Given the description of an element on the screen output the (x, y) to click on. 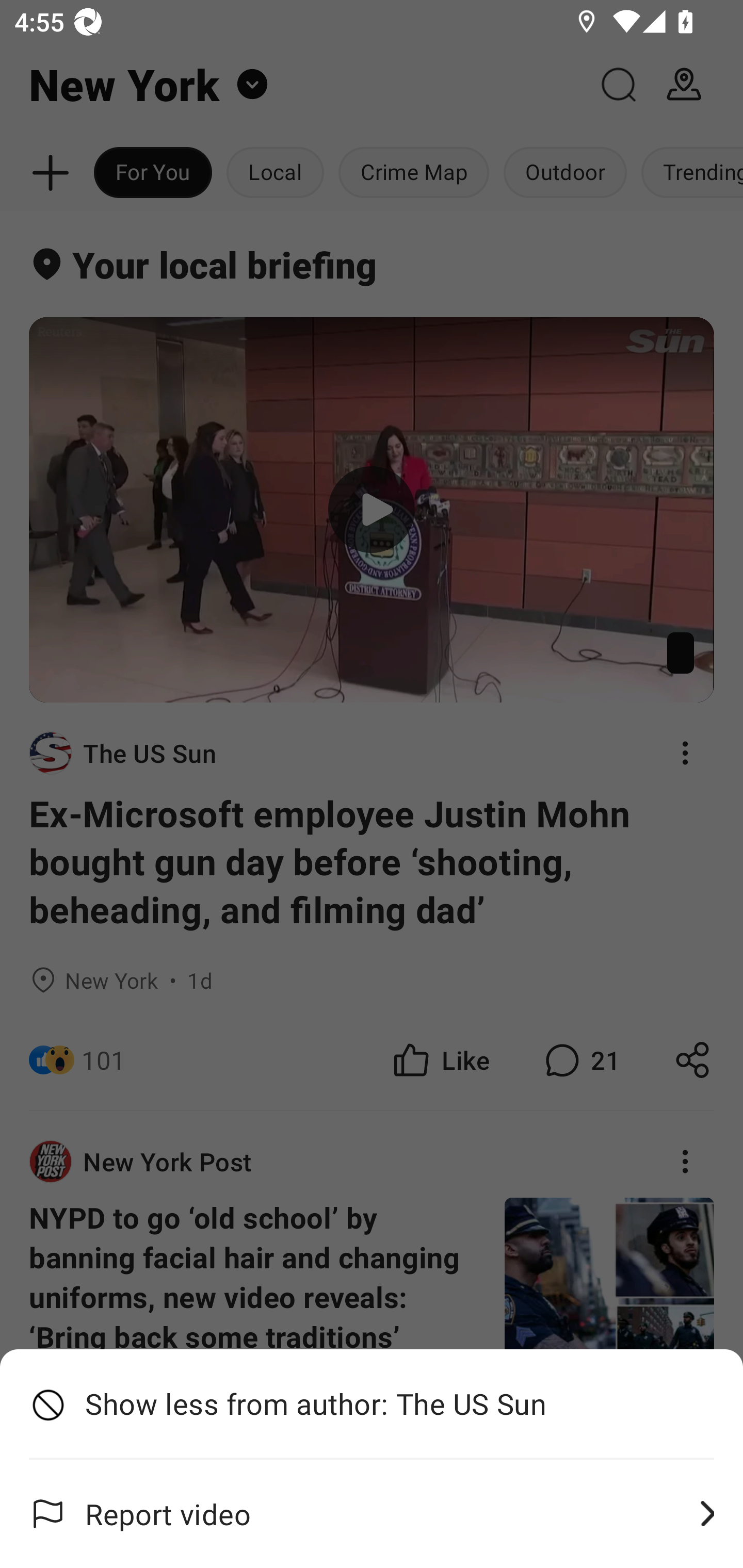
Show less from author: The US Sun  (371, 1404)
Report video (371, 1513)
